Given the description of an element on the screen output the (x, y) to click on. 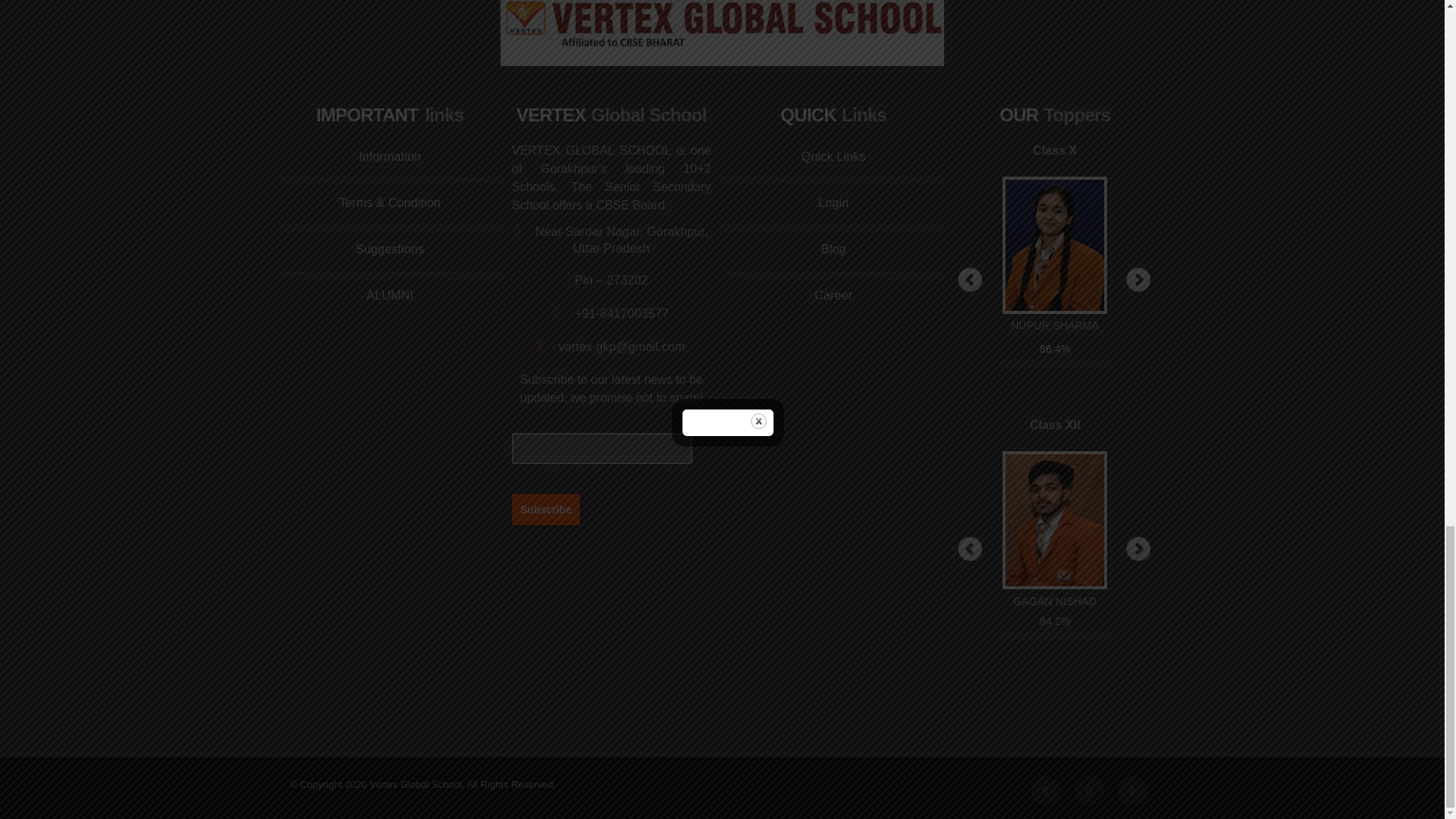
Subscribe (545, 508)
